Given the description of an element on the screen output the (x, y) to click on. 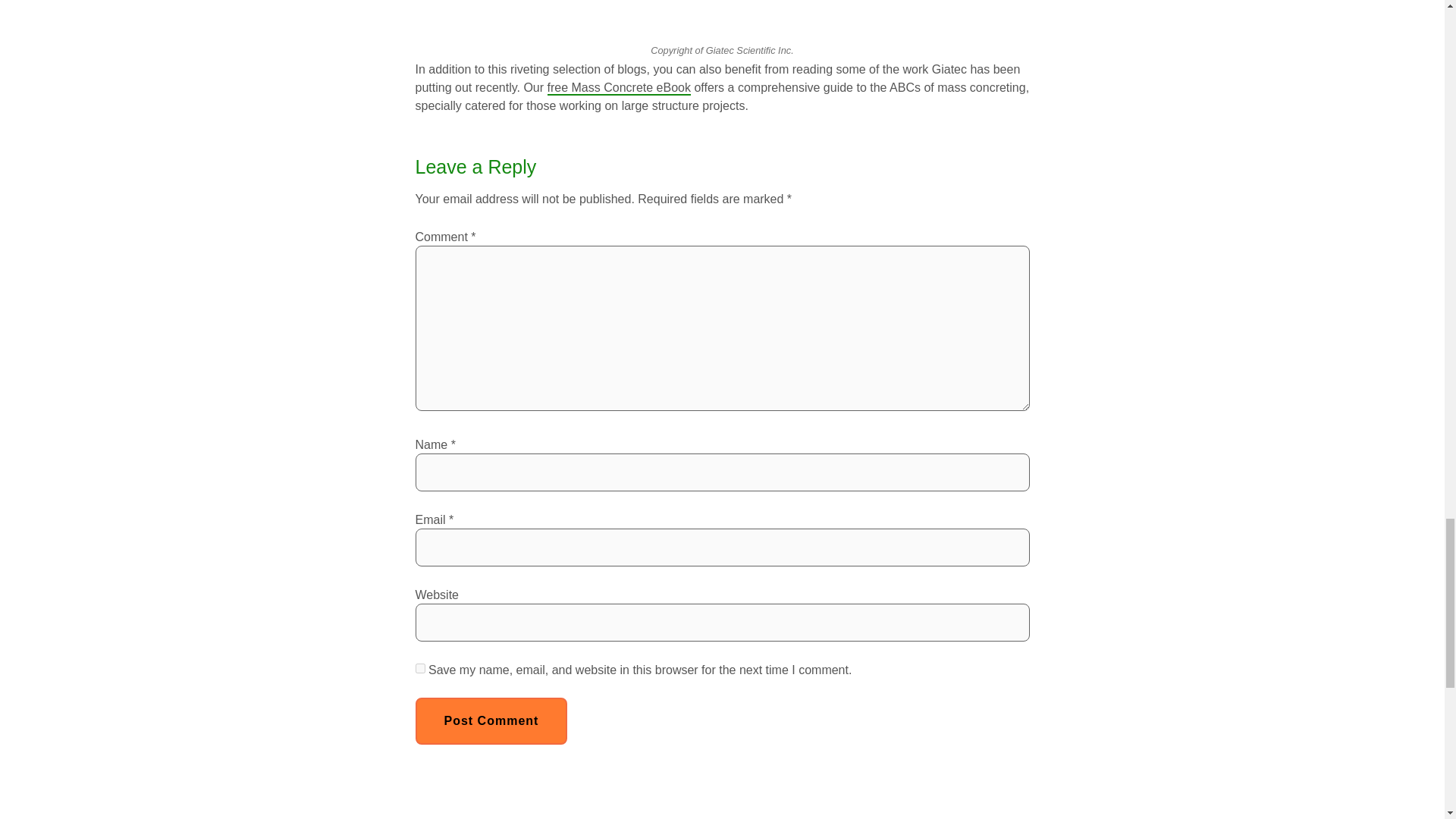
Post Comment (490, 720)
yes (419, 668)
